Given the description of an element on the screen output the (x, y) to click on. 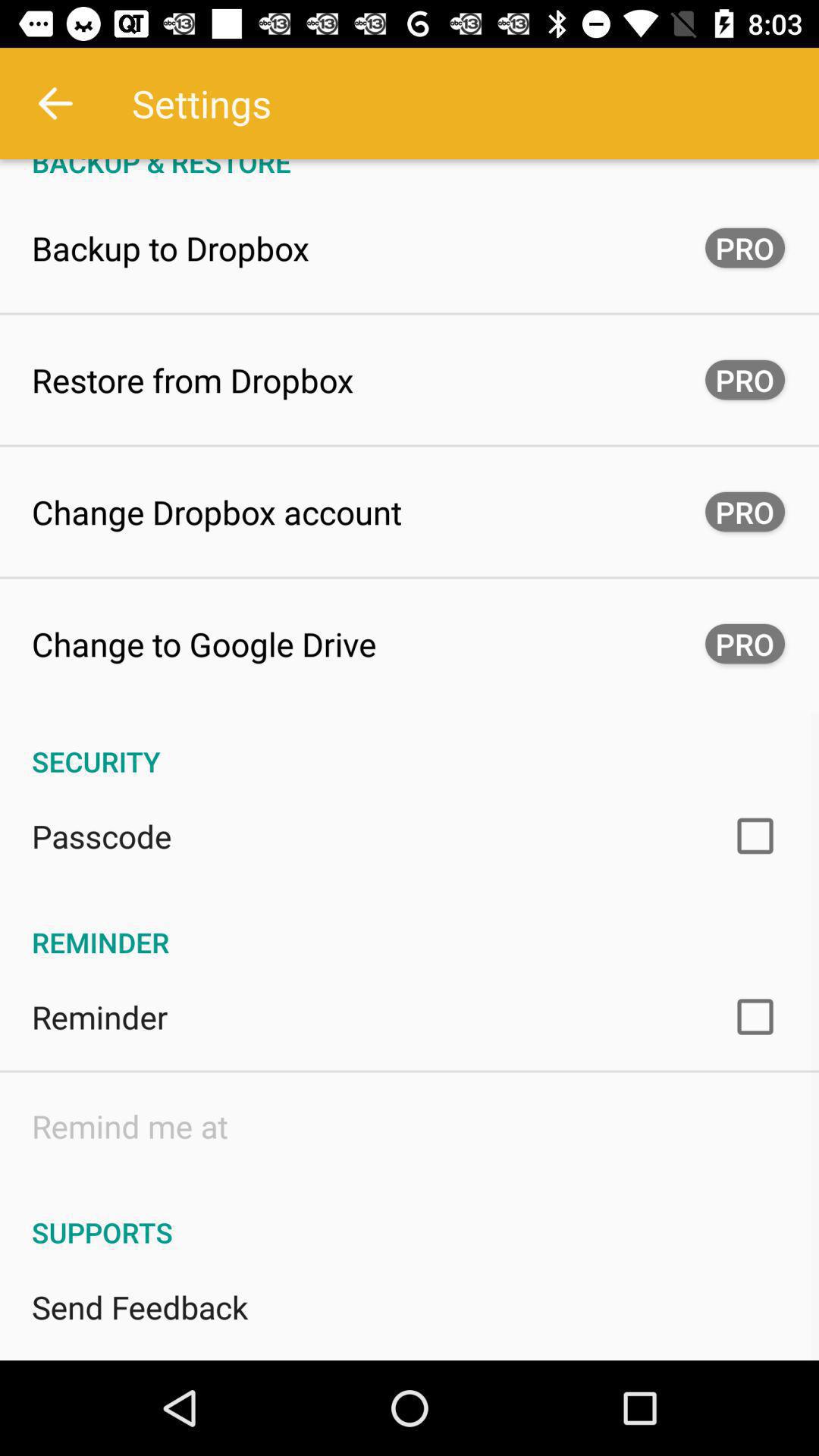
jump until change to google icon (203, 643)
